Given the description of an element on the screen output the (x, y) to click on. 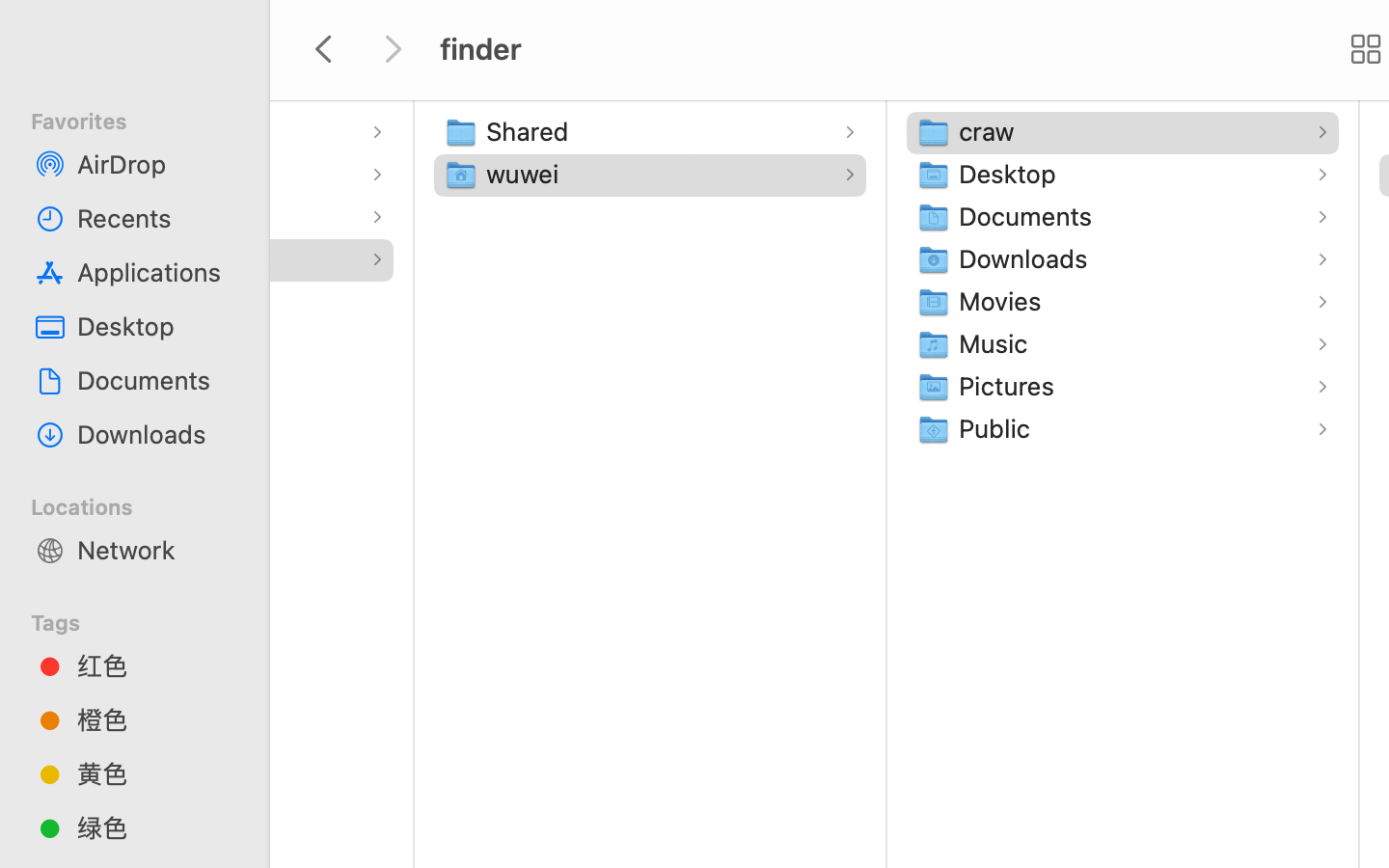
Downloads Element type: AXTextField (1026, 258)
Documents Element type: AXTextField (1029, 215)
Applications Element type: AXStaticText (155, 271)
Desktop Element type: AXTextField (1011, 173)
黄色 Element type: AXStaticText (155, 773)
